Given the description of an element on the screen output the (x, y) to click on. 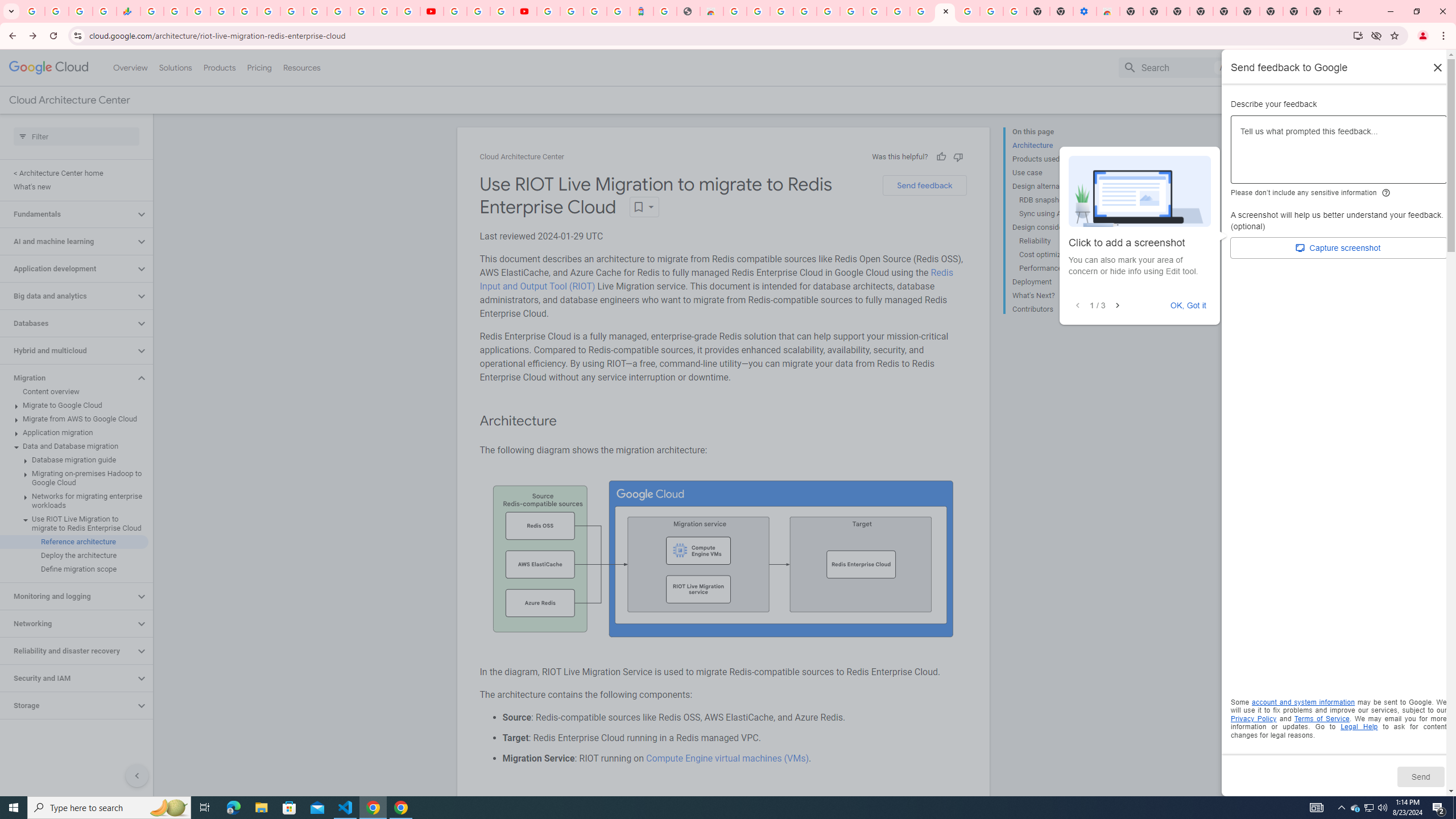
Type to filter (76, 136)
Pricing (259, 67)
Not helpful (957, 156)
Networks for migrating enterprise workloads (74, 500)
Databases (67, 323)
Sync using Active-Passive (1062, 213)
Privacy Checkup (408, 11)
Sign in (1420, 67)
Sign in - Google Accounts (547, 11)
Opens in a new tab. Terms of Service (1321, 718)
Use case (1058, 172)
YouTube (314, 11)
